Given the description of an element on the screen output the (x, y) to click on. 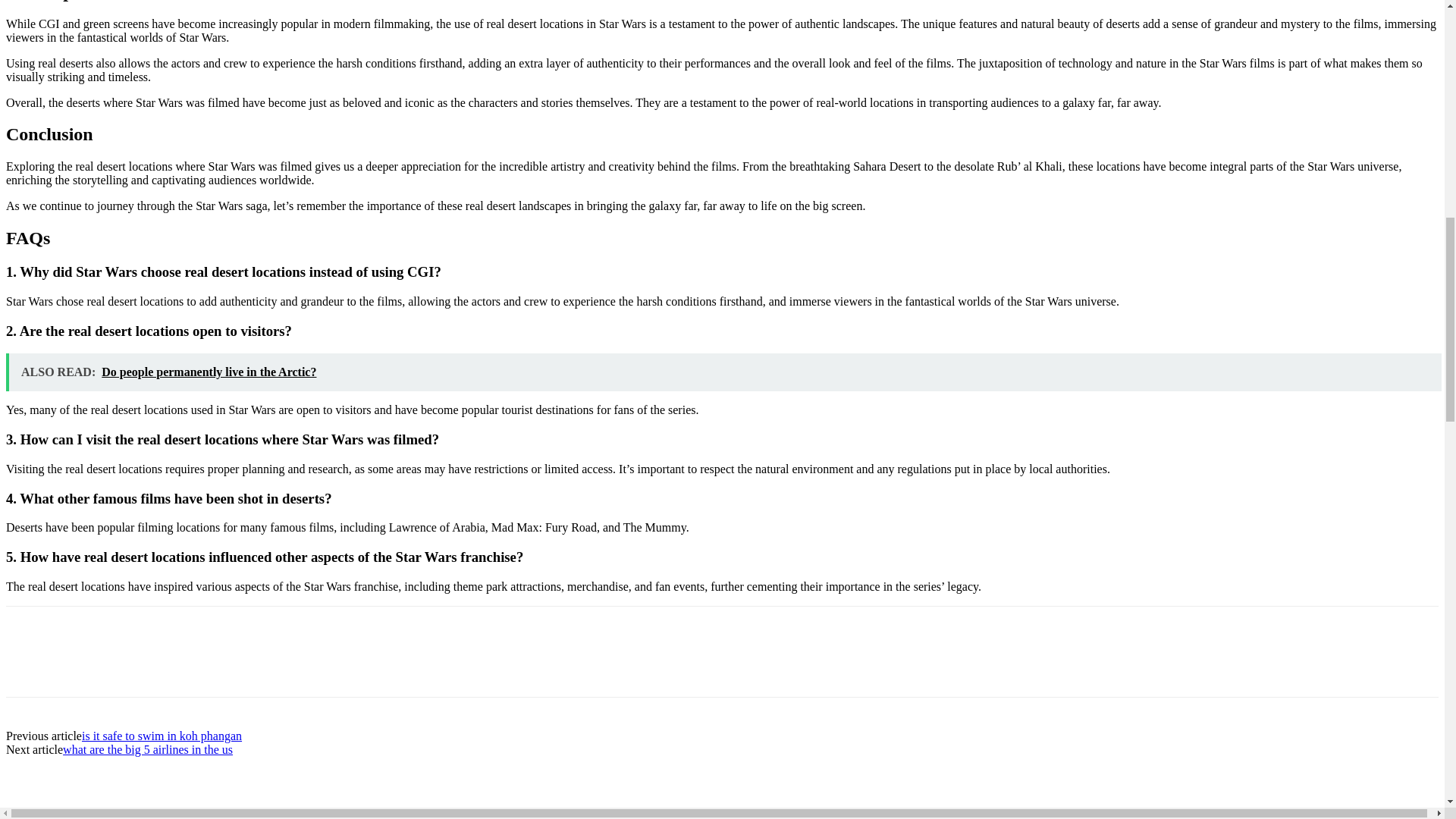
what are the big 5 airlines in the us (147, 748)
bottomFacebookLike (118, 630)
ALSO READ:  Do people permanently live in the Arctic? (723, 371)
is it safe to swim in koh phangan (161, 735)
